Given the description of an element on the screen output the (x, y) to click on. 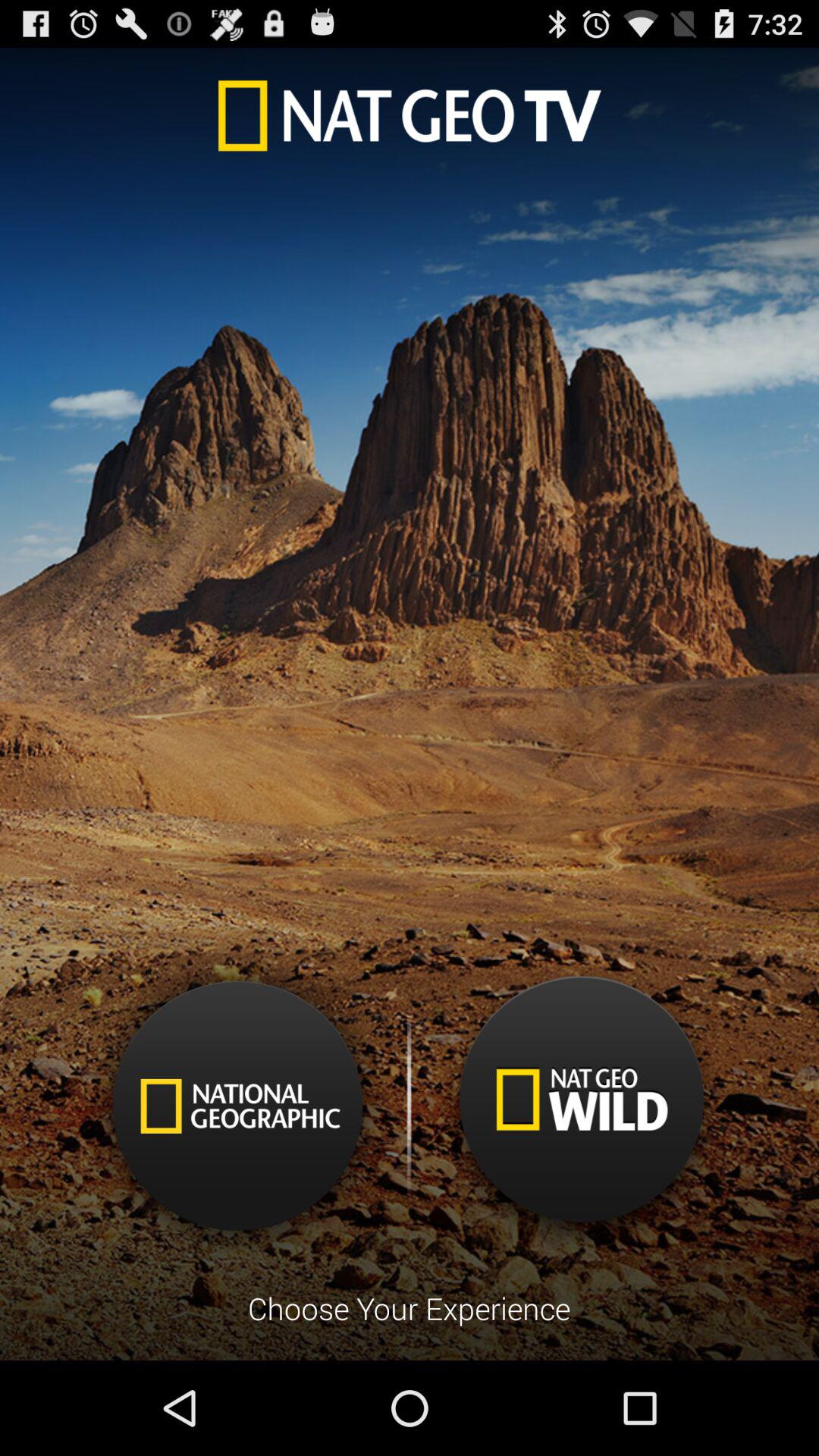
this button is used to choose a national geo wild channel (581, 1111)
